Given the description of an element on the screen output the (x, y) to click on. 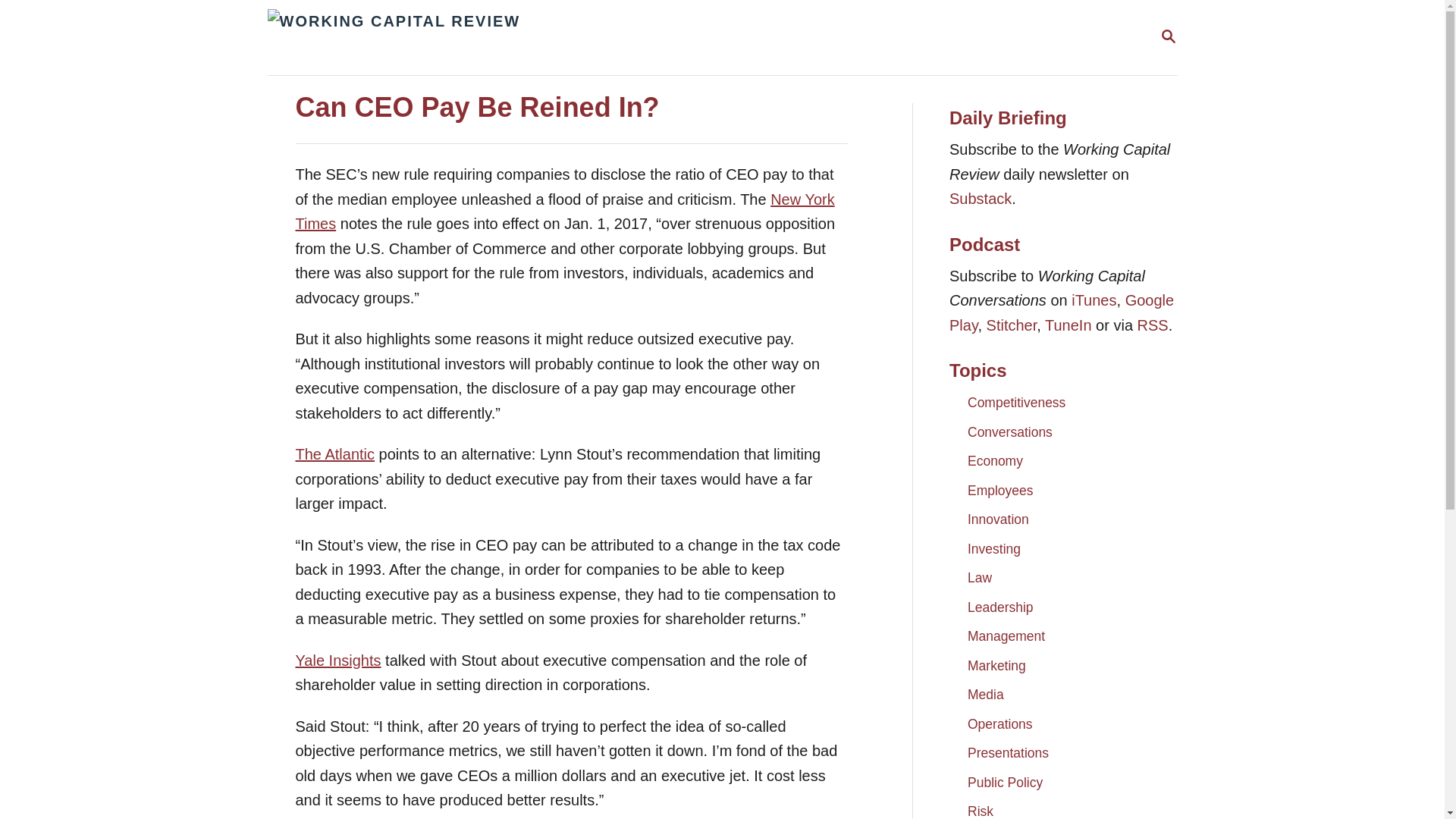
iTunes (1093, 299)
Media (985, 694)
Risk (980, 806)
Stitcher (1011, 324)
The Atlantic (335, 453)
Leadership (1000, 606)
TuneIn (1068, 324)
MAGNIFYING GLASS (1167, 36)
Law (979, 577)
Substack (980, 198)
New York Times (564, 211)
Conversations (1009, 431)
Innovation (997, 519)
Presentations (1008, 752)
Management (1005, 635)
